Given the description of an element on the screen output the (x, y) to click on. 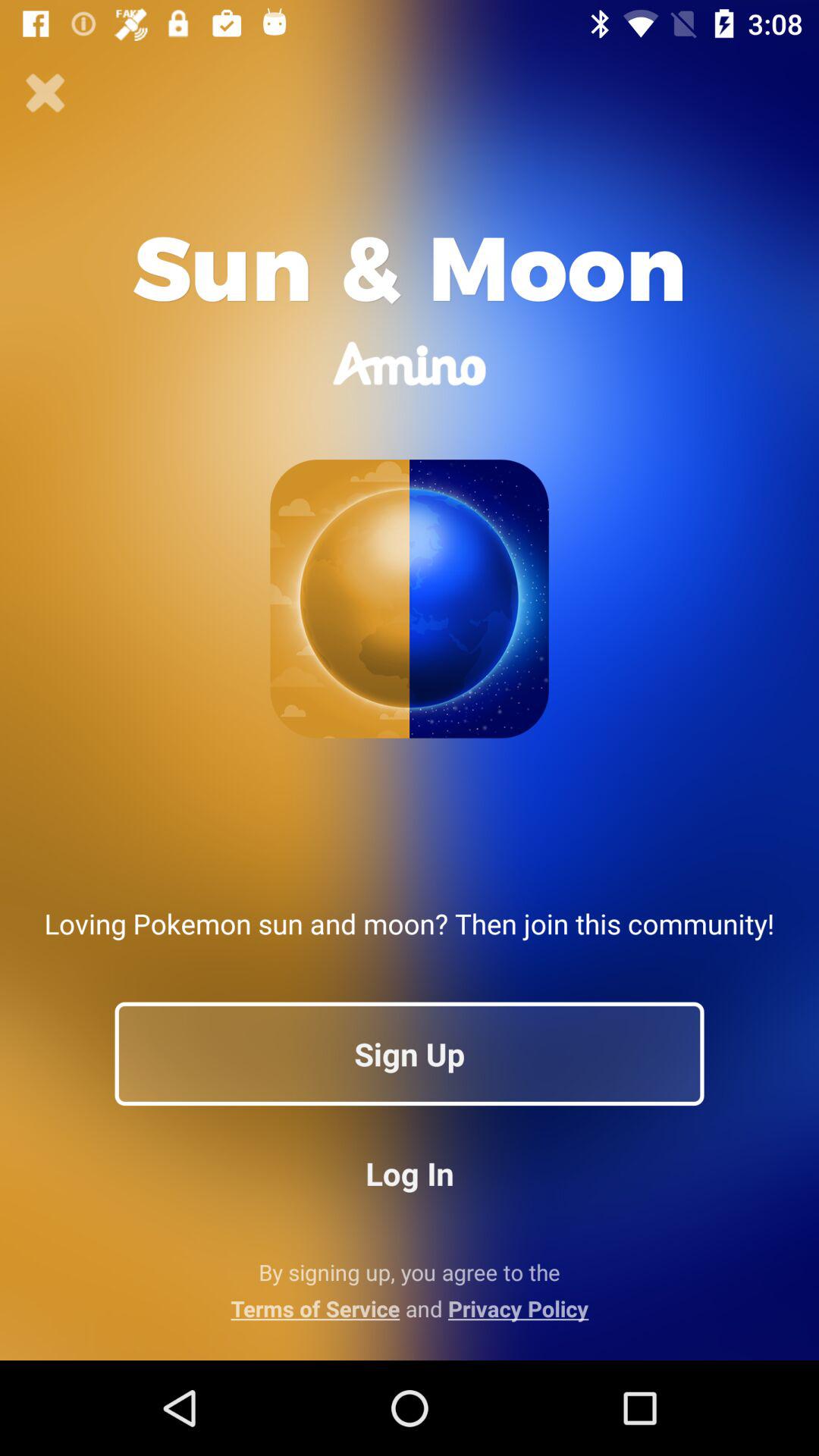
choose the button above log in item (409, 1053)
